Given the description of an element on the screen output the (x, y) to click on. 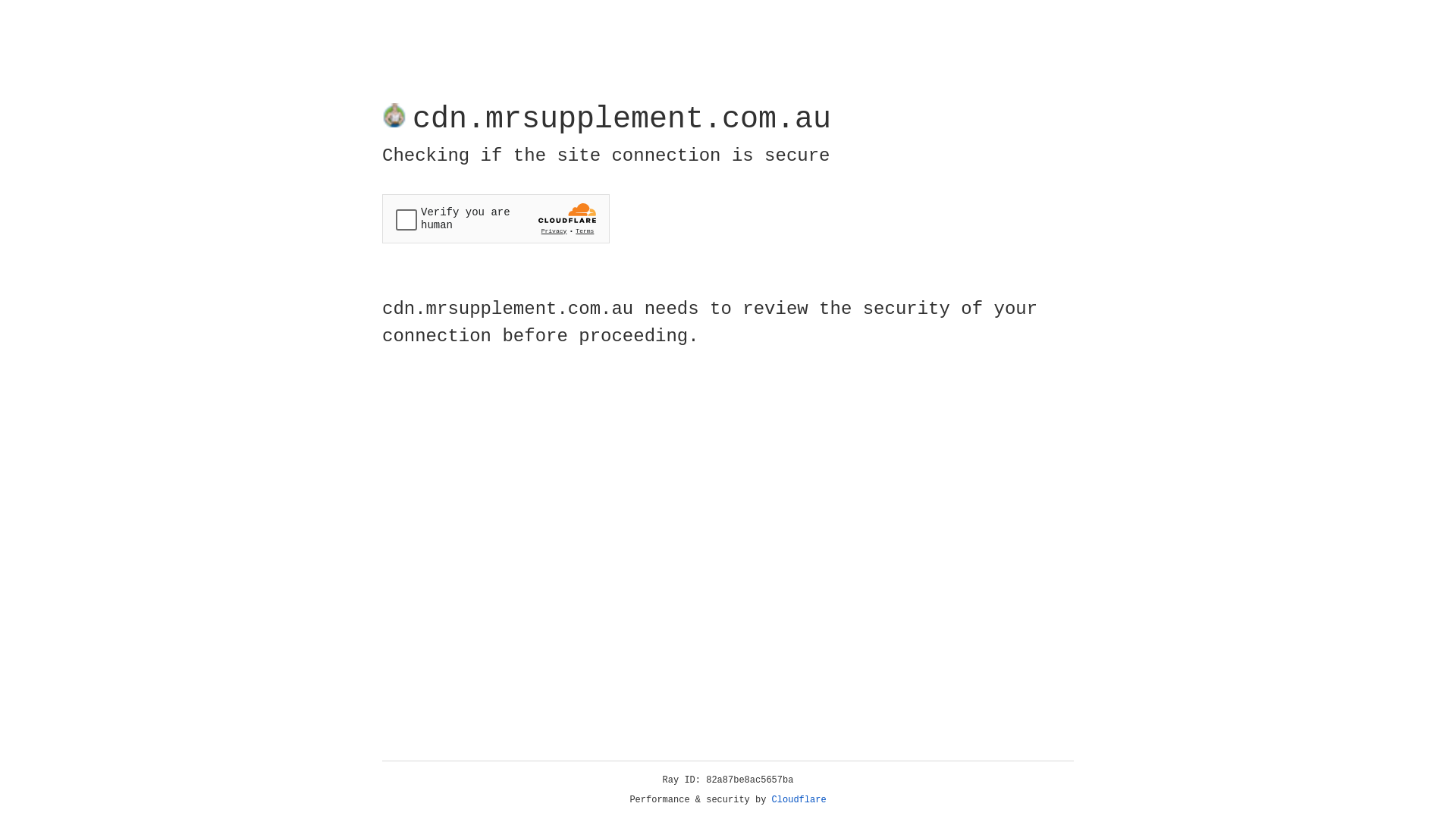
Cloudflare Element type: text (798, 799)
Widget containing a Cloudflare security challenge Element type: hover (495, 218)
